Given the description of an element on the screen output the (x, y) to click on. 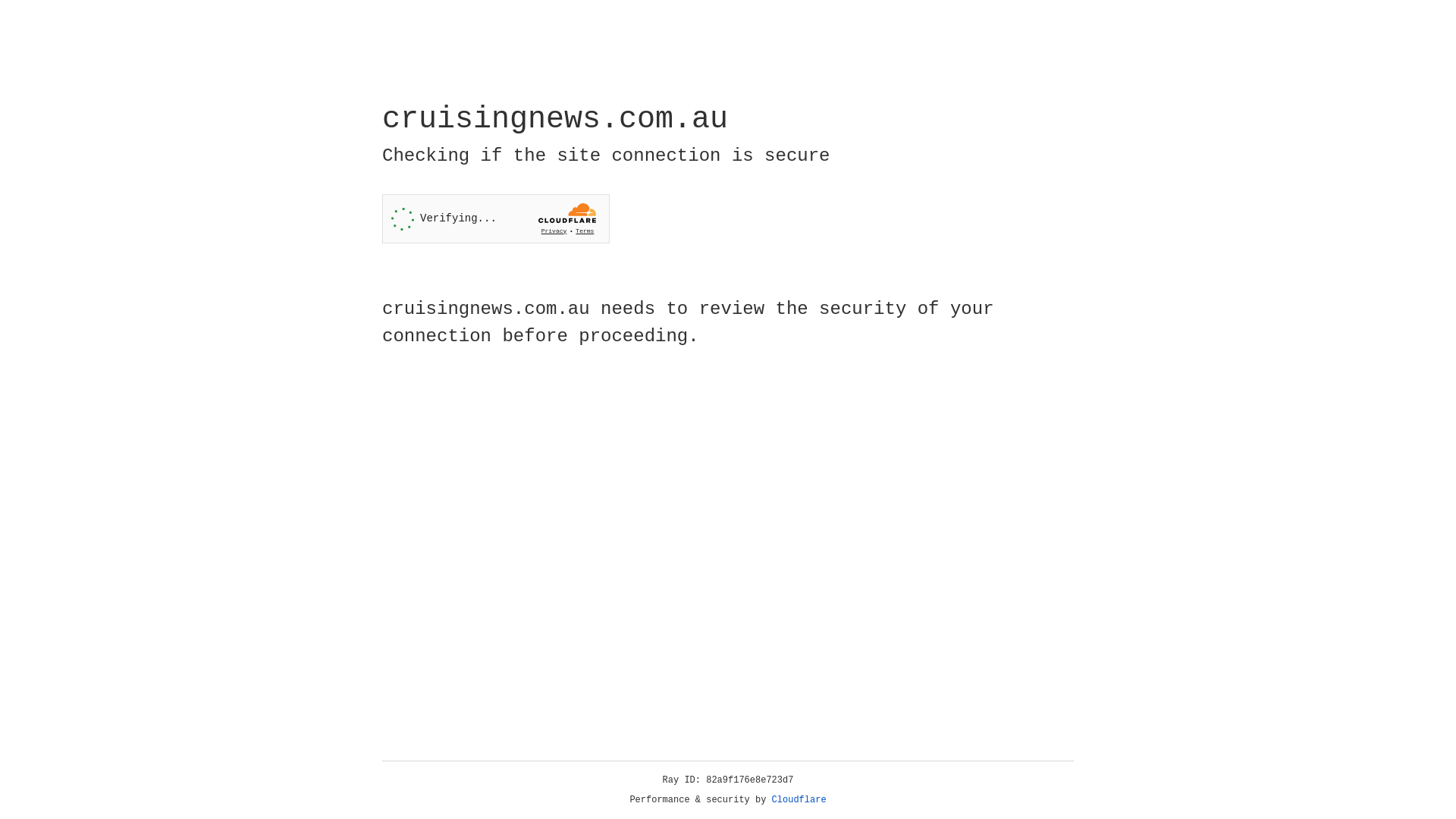
Cloudflare Element type: text (798, 799)
Widget containing a Cloudflare security challenge Element type: hover (495, 218)
